Given the description of an element on the screen output the (x, y) to click on. 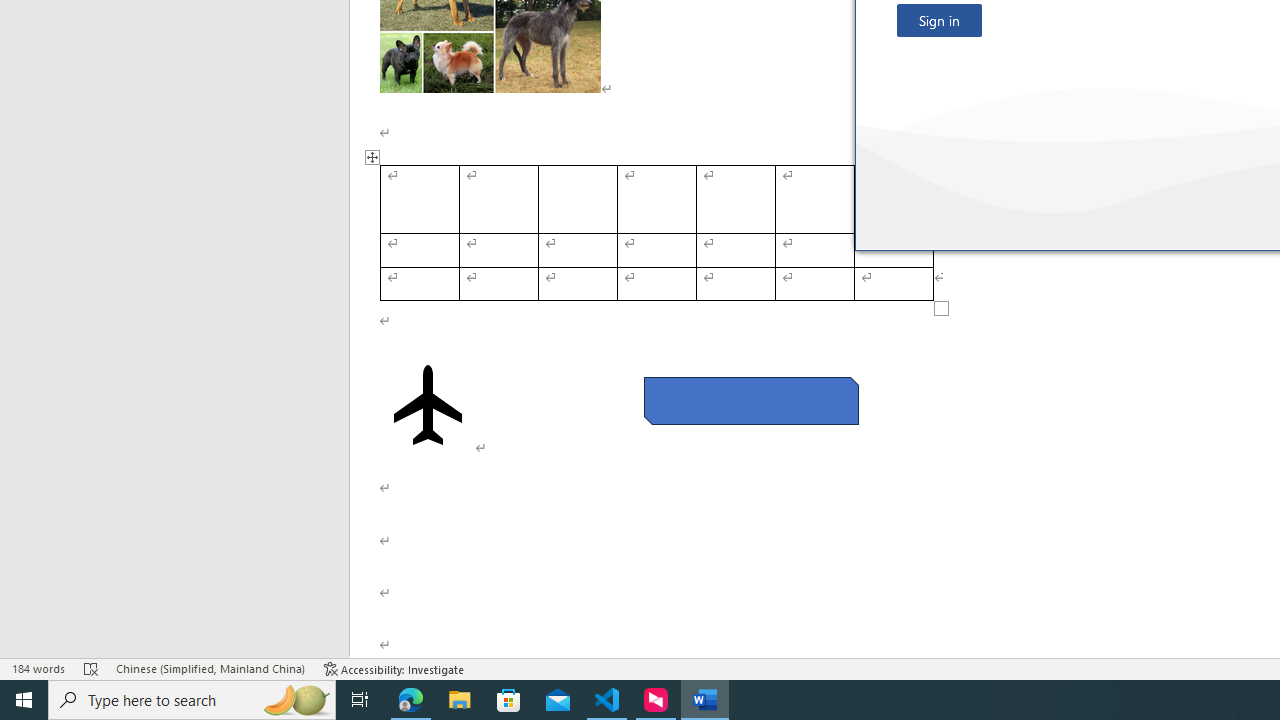
Word Count 184 words (37, 668)
Sign in (939, 20)
File Explorer (460, 699)
Microsoft Edge - 1 running window (411, 699)
